Given the description of an element on the screen output the (x, y) to click on. 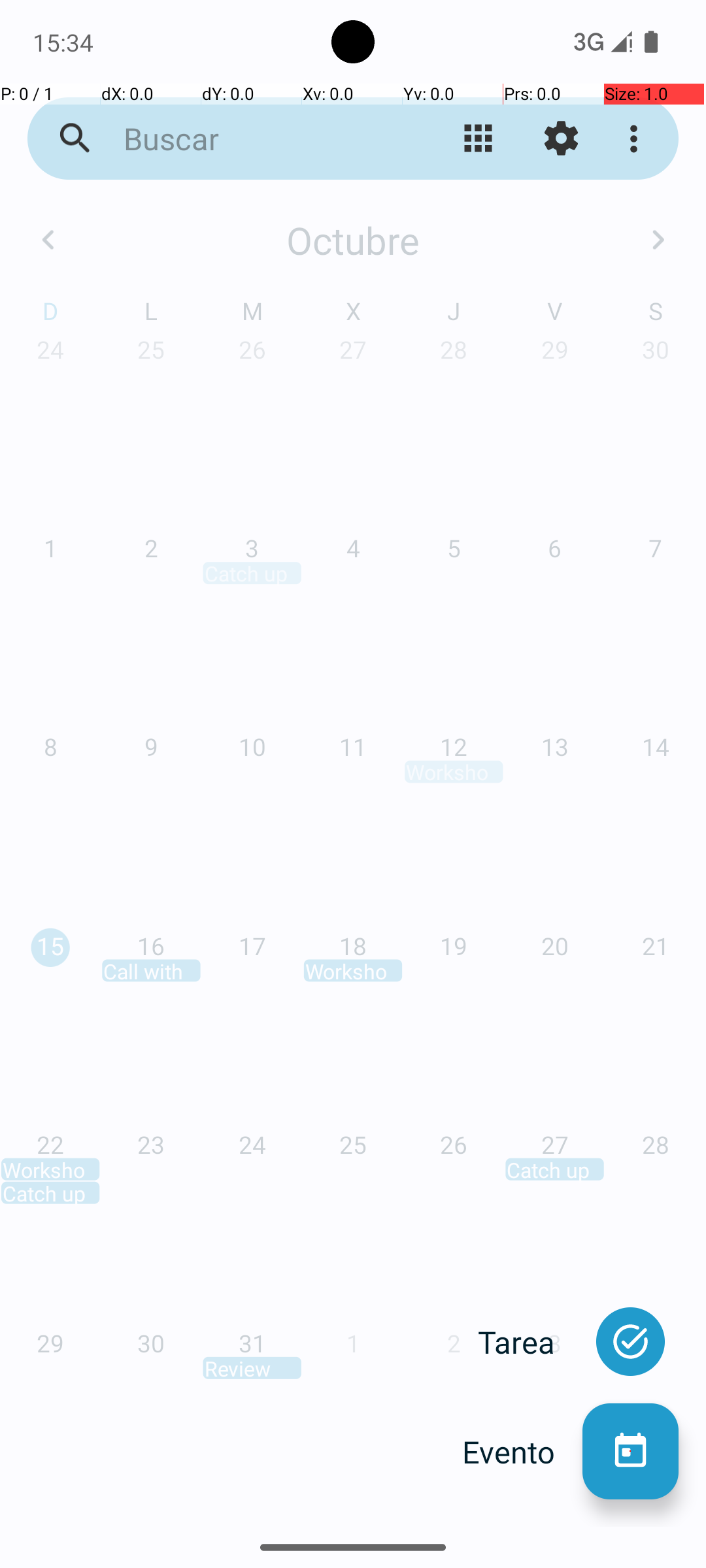
Buscar Element type: android.widget.EditText (252, 138)
Tarea Element type: android.widget.TextView (529, 1341)
Evento Element type: android.widget.TextView (522, 1451)
Octubre Element type: android.widget.TextView (352, 239)
